Given the description of an element on the screen output the (x, y) to click on. 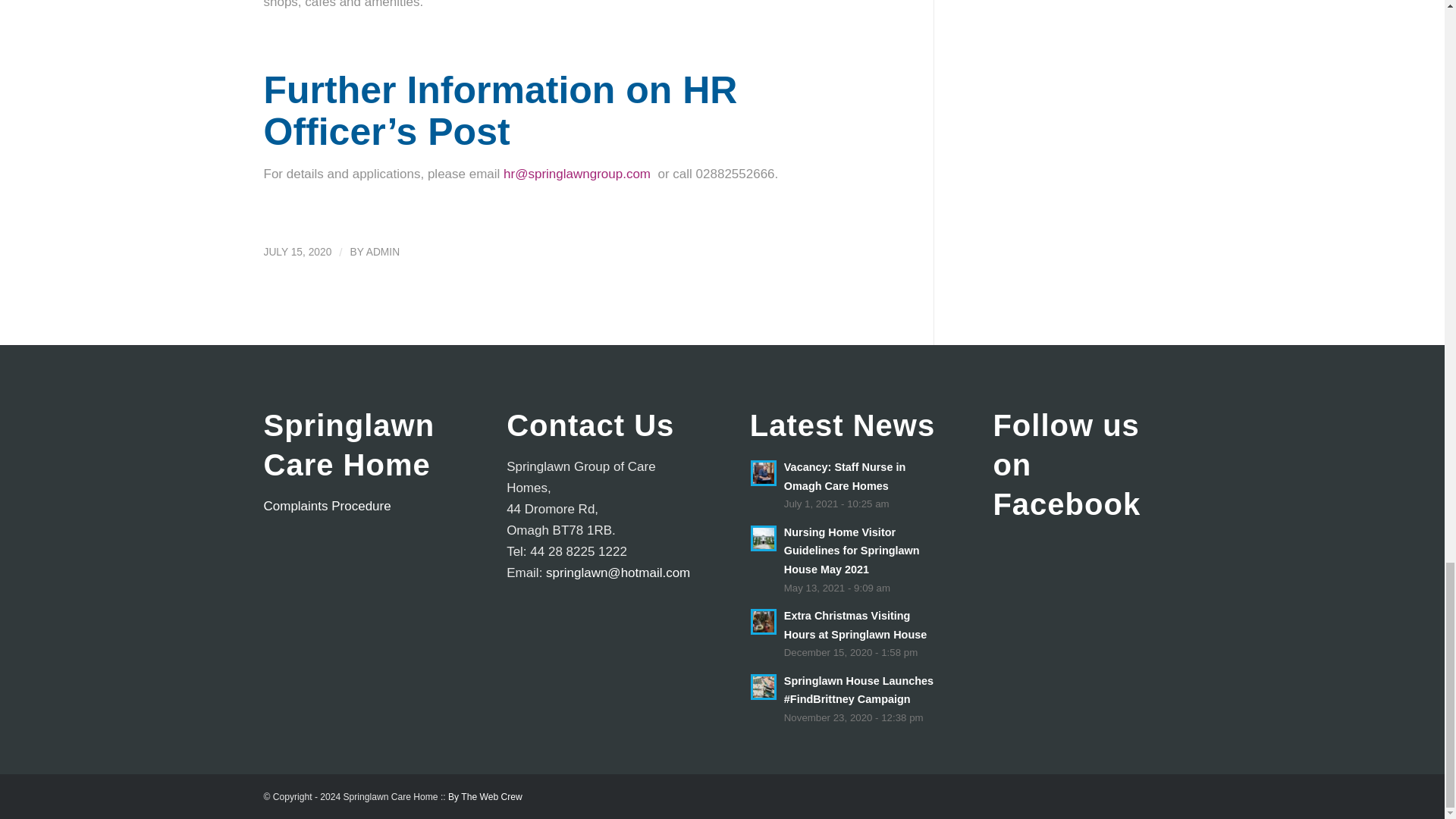
Read: Extra Christmas Visiting Hours at Springlawn House (763, 621)
ADMIN (382, 251)
Read: Vacancy: Staff Nurse in Omagh Care Homes (763, 472)
Read: Vacancy: Staff Nurse in Omagh Care Homes (844, 476)
Posts by admin (382, 251)
